Given the description of an element on the screen output the (x, y) to click on. 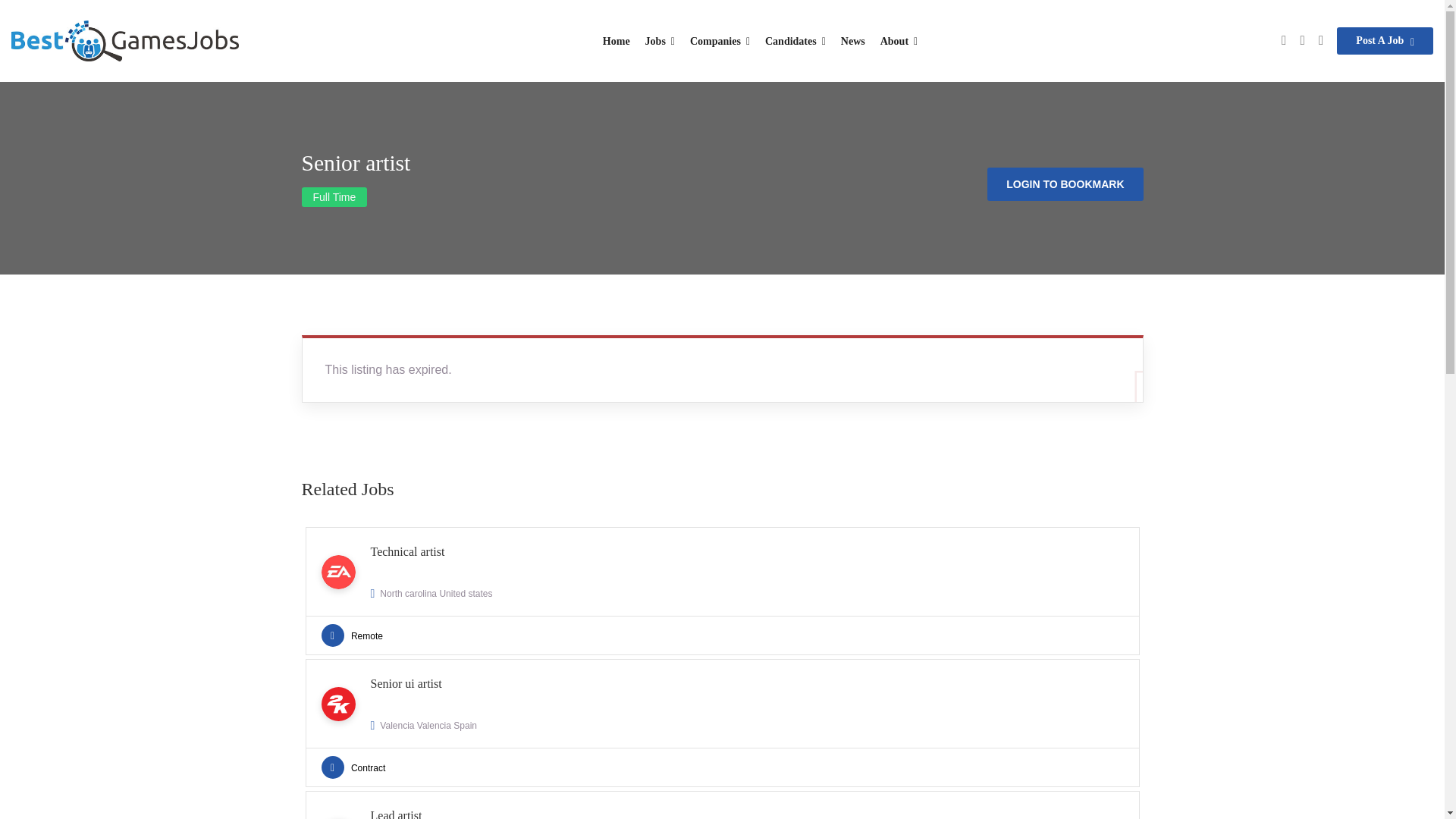
LOGIN TO BOOKMARK (1064, 183)
Candidates (721, 723)
Companies (795, 41)
News (719, 41)
Post A Job (852, 41)
Jobs (721, 805)
Home (721, 591)
About (1384, 40)
